Given the description of an element on the screen output the (x, y) to click on. 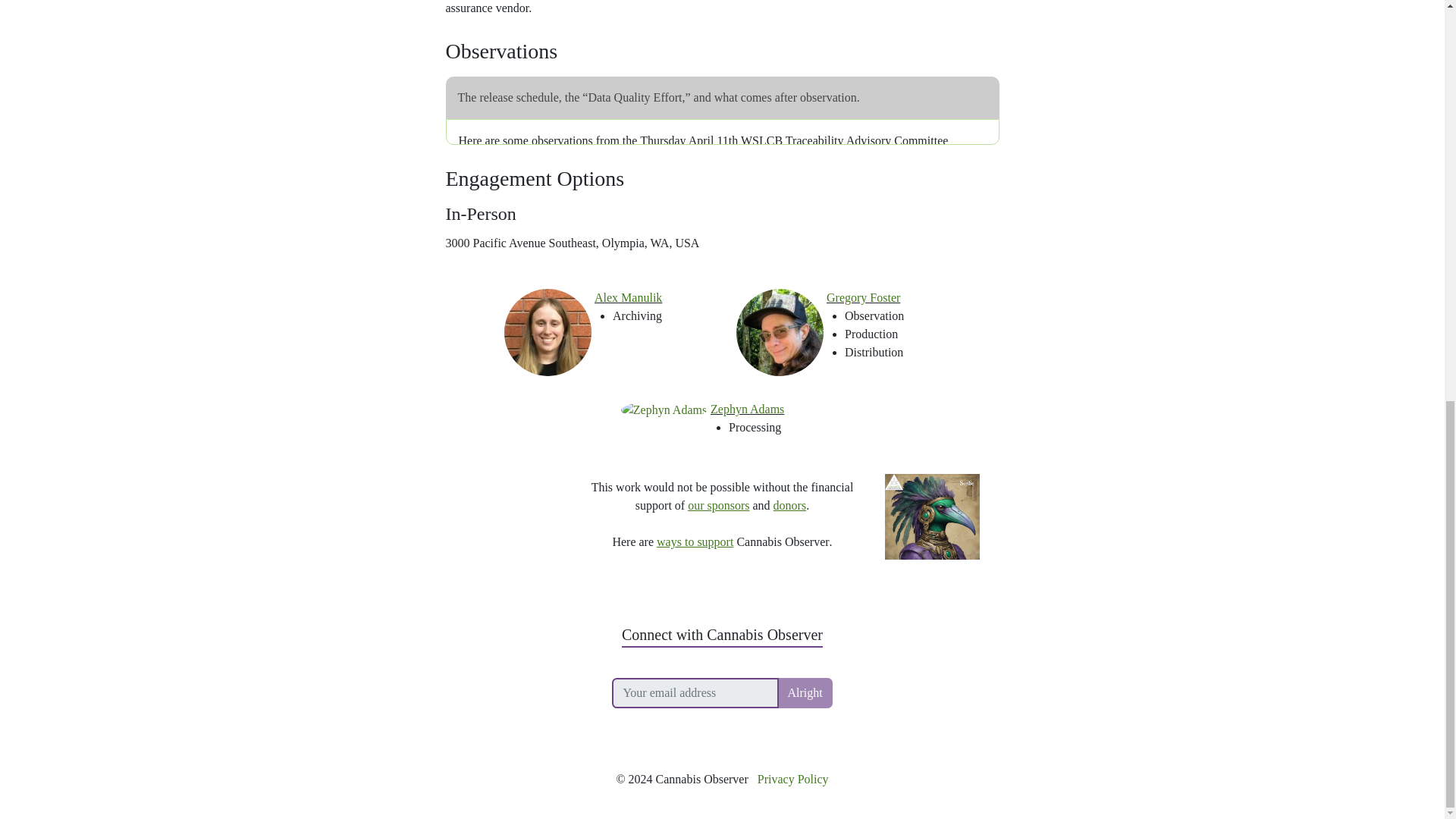
Alex Manulik (628, 297)
Cannabis Observer, Watchdog (511, 469)
Zephyn Adams (747, 408)
Consider us as a scribe... (932, 469)
Consider us as a watchdog... (511, 469)
Gregory Foster (863, 297)
